Given the description of an element on the screen output the (x, y) to click on. 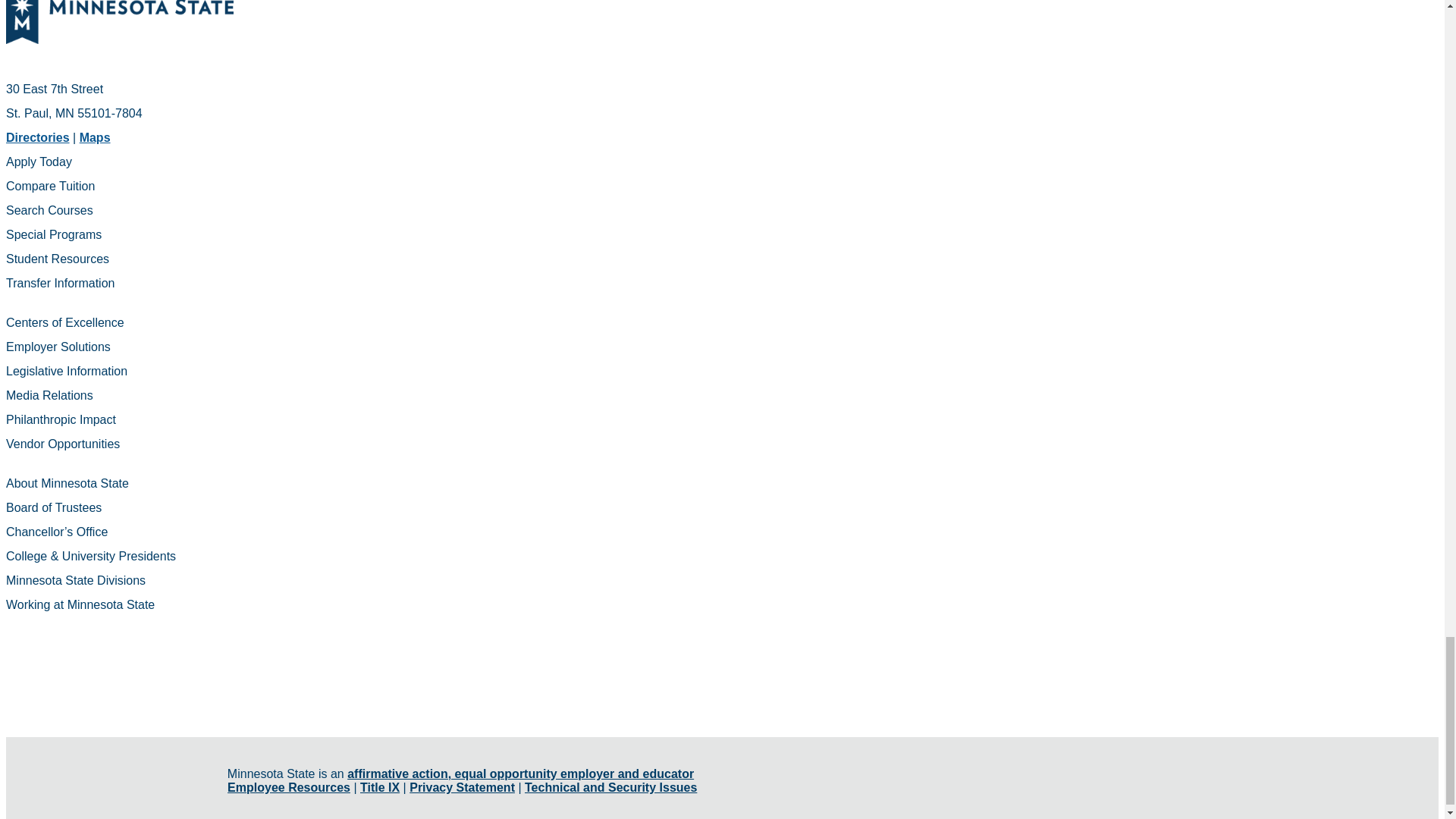
Minnesota State employee information (288, 787)
System privacy statement (462, 787)
Office of Equity and Inclusion (520, 773)
Compliance and reporting (378, 787)
